Given the description of an element on the screen output the (x, y) to click on. 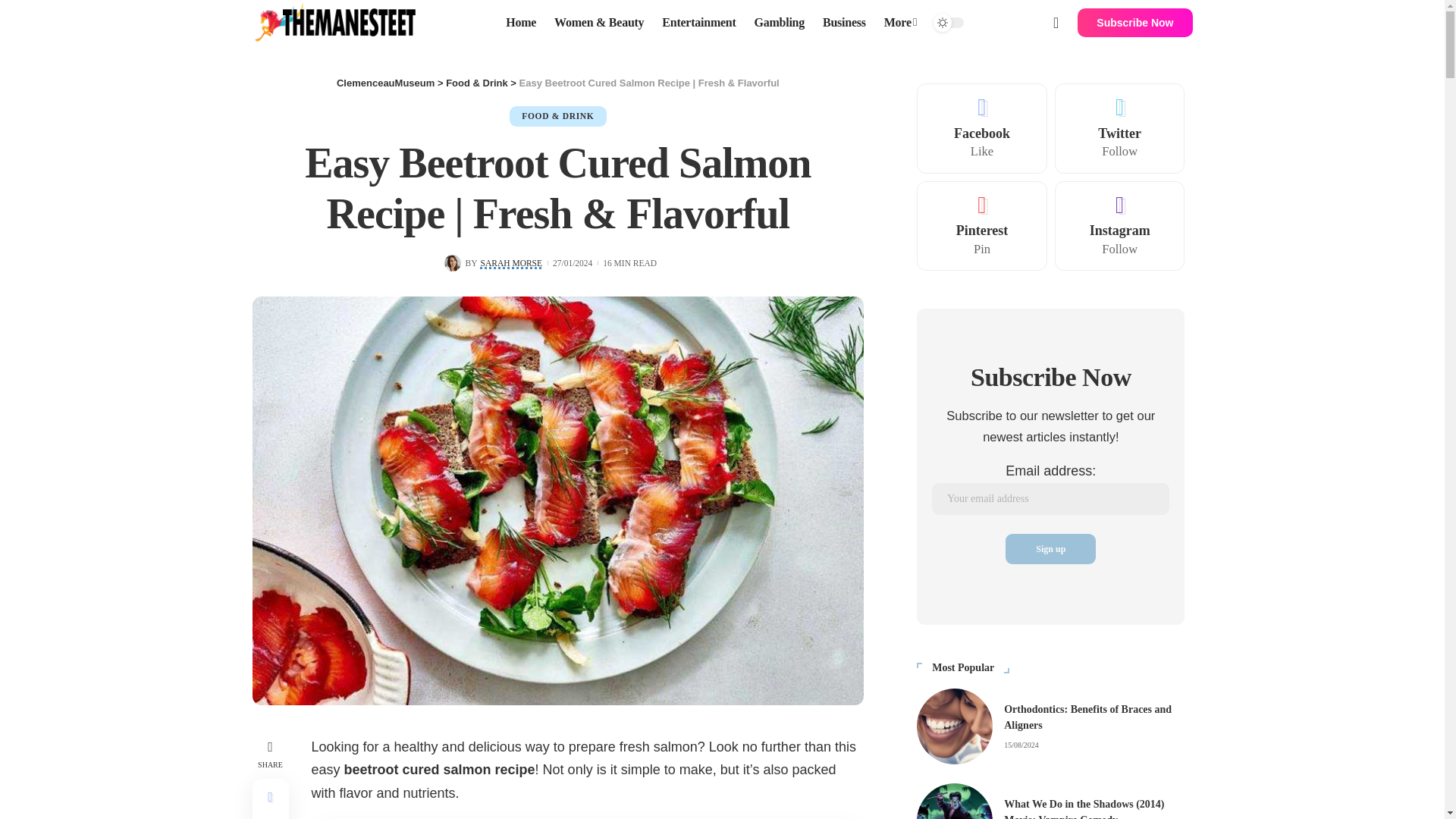
Go to ClemenceauMuseum. (384, 82)
More (900, 22)
Twitter (1120, 128)
Gambling (779, 22)
Sign up (1051, 548)
Facebook (981, 128)
ClemenceauMuseum (384, 82)
Business (844, 22)
Instagram (1120, 226)
Subscribe Now (1134, 22)
